Given the description of an element on the screen output the (x, y) to click on. 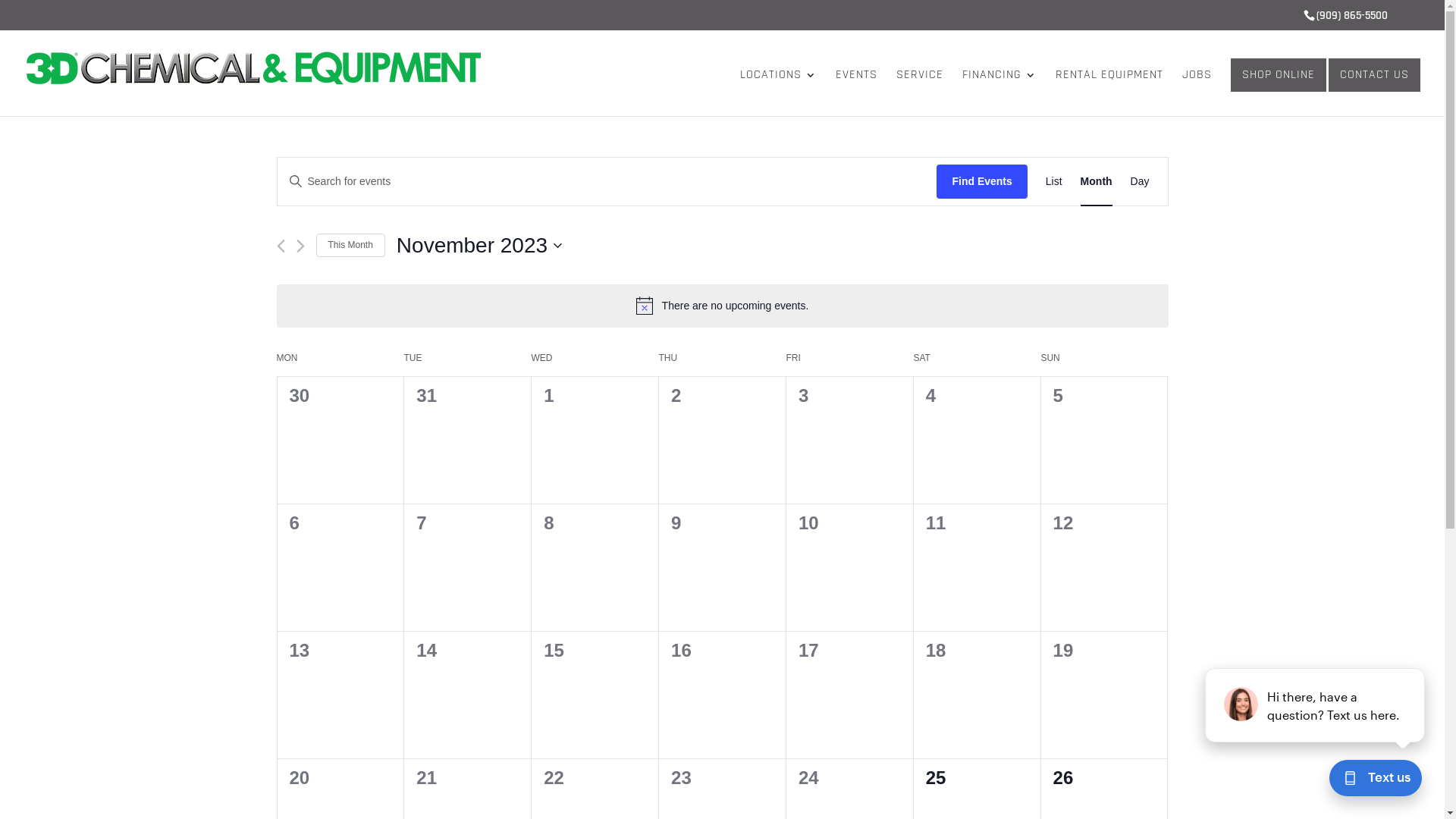
November 2023 Element type: text (478, 245)
Next month Element type: hover (299, 245)
Previous month Element type: hover (280, 245)
podium webchat widget prompt Element type: hover (1315, 705)
RENTAL EQUIPMENT Element type: text (1109, 92)
Month Element type: text (1096, 181)
(909) 865-5500 Element type: text (1351, 15)
SHOP ONLINE Element type: text (1278, 74)
CONTACT US Element type: text (1374, 74)
JOBS Element type: text (1196, 92)
FINANCING Element type: text (999, 92)
Find Events Element type: text (981, 181)
LOCATIONS Element type: text (778, 92)
SERVICE Element type: text (919, 92)
EVENTS Element type: text (856, 92)
List Element type: text (1053, 181)
This Month Element type: text (349, 245)
Day Element type: text (1139, 181)
